Given the description of an element on the screen output the (x, y) to click on. 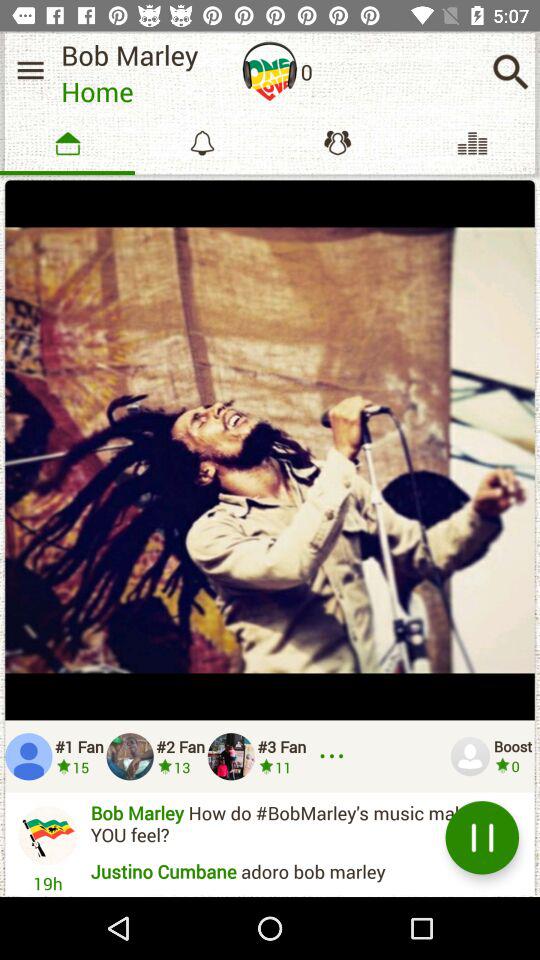
click icon next to the 0 (510, 71)
